Given the description of an element on the screen output the (x, y) to click on. 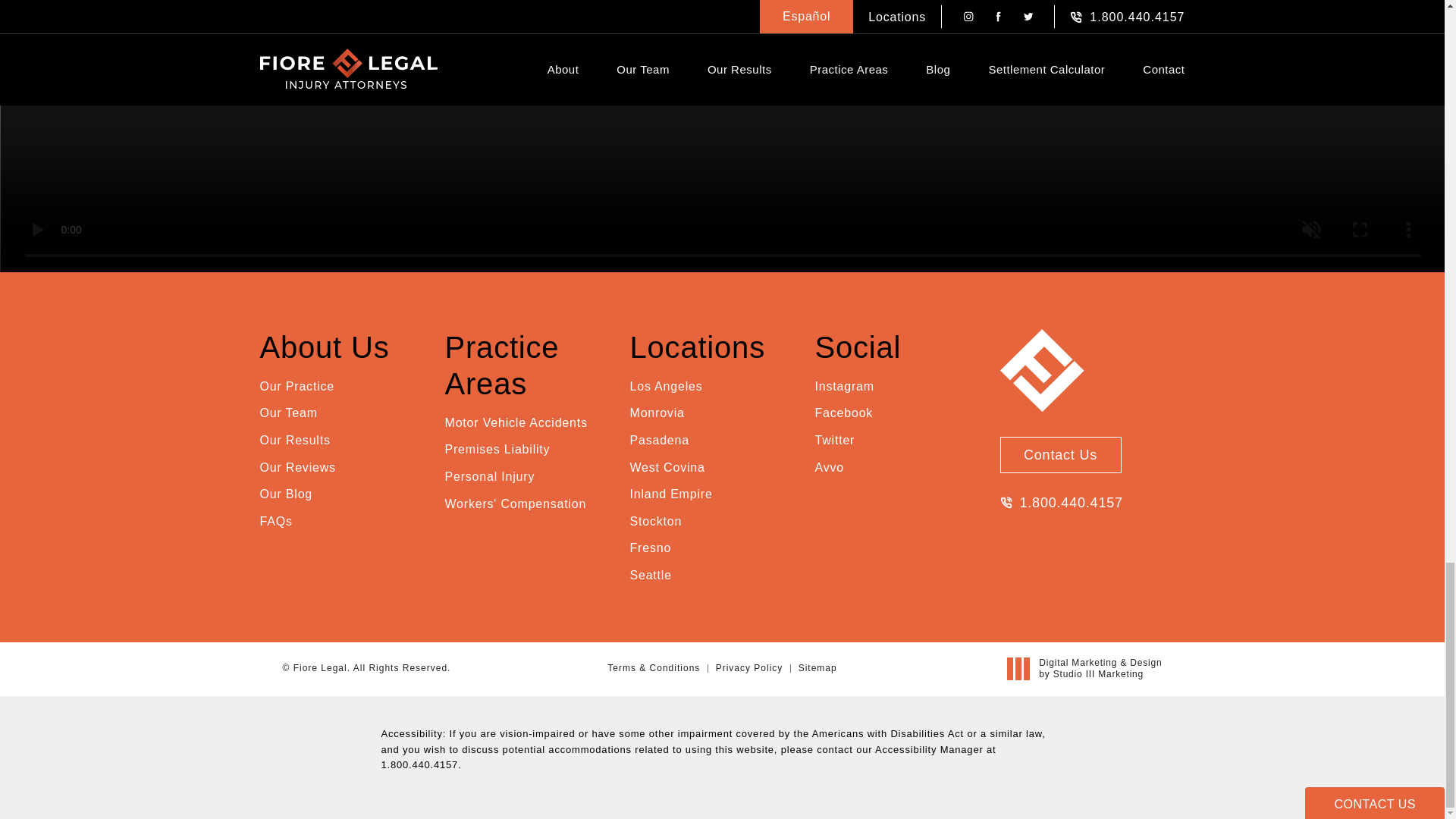
Fiore Legal on Instagram (843, 386)
Fiore Legal on Facebook (842, 413)
Fiore Legal on Avvo (828, 467)
Fiore Legal on Twitter (833, 440)
